Given the description of an element on the screen output the (x, y) to click on. 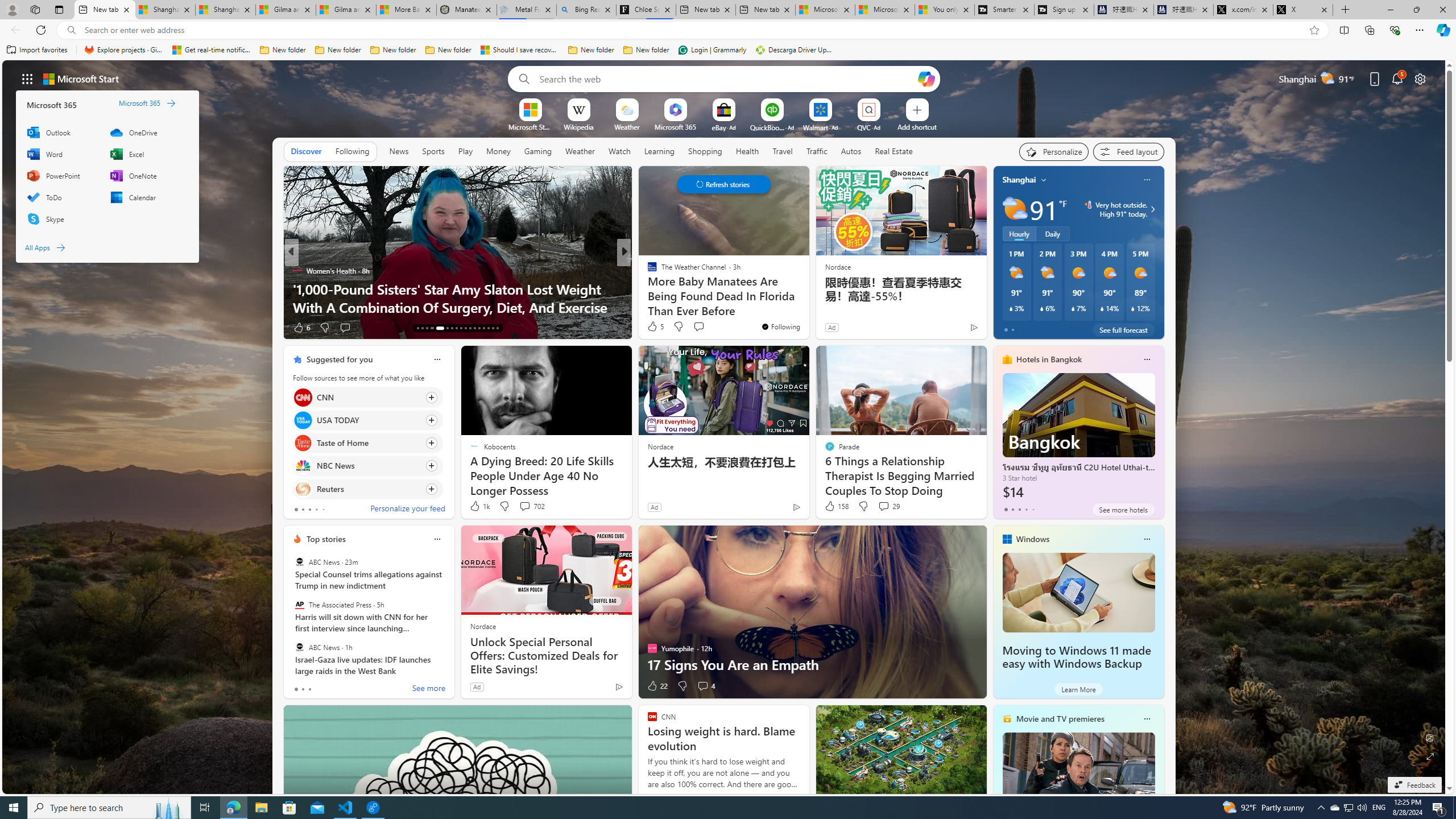
The Associated Press (299, 604)
Click to follow source Taste of Home (367, 442)
View comments 19 Comment (707, 327)
NBC News (302, 466)
Personalize your feed (407, 509)
View comments 4 Comment (705, 685)
AutomationID: tab-39 (483, 328)
Wikipedia (578, 126)
